Given the description of an element on the screen output the (x, y) to click on. 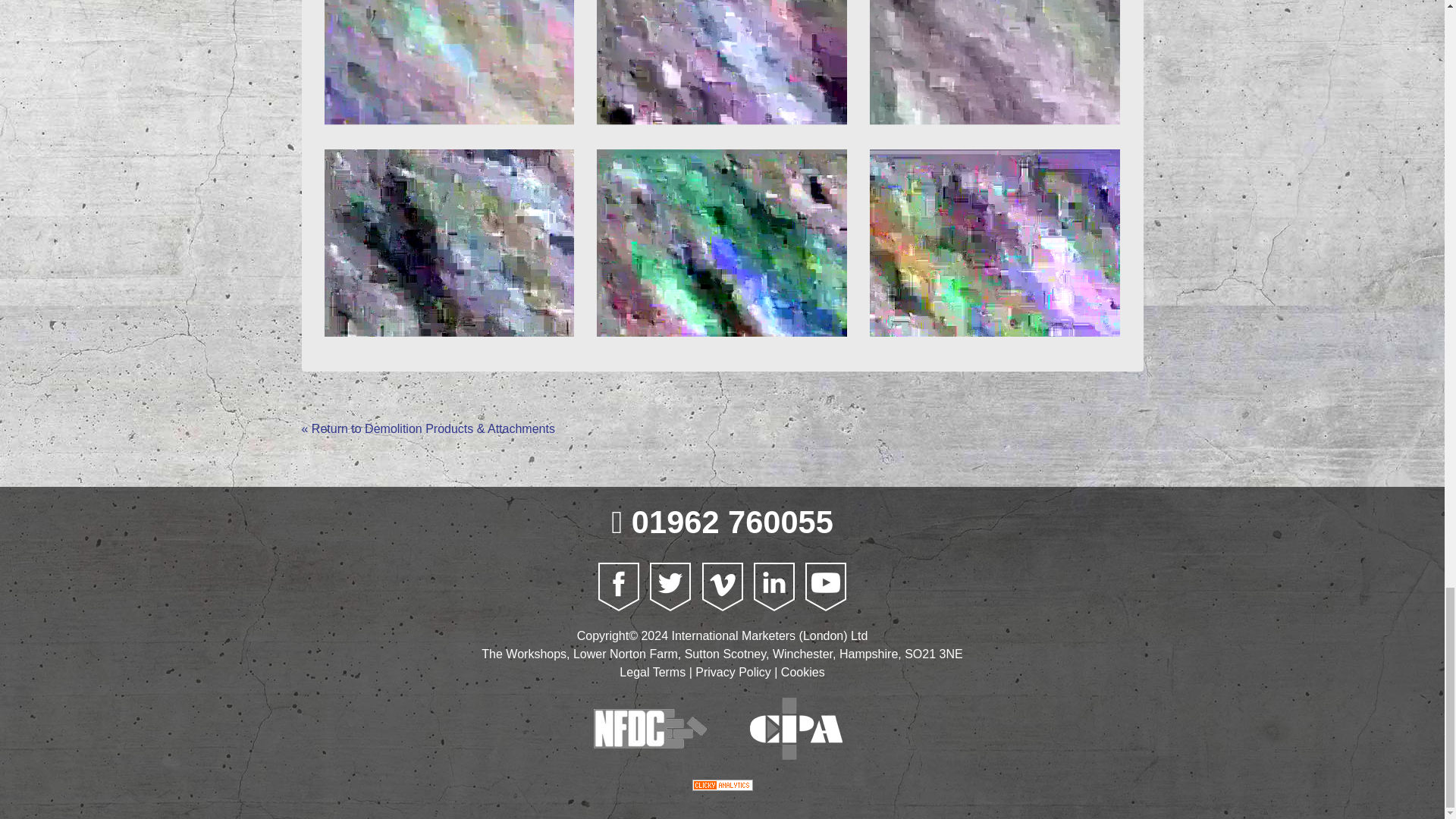
MBI SGR1500 Selector grab on Hitachi ZX210 Excavator (994, 62)
MBI SGR850 Selector Grab on Liebherr 914C Excavator (449, 242)
MBI SGR1900 Rotating Grapple on Hyundai HX380 Excavator (721, 62)
MBI SGR1900 Rotating Grapple on Komatsu PC290 Excavator (721, 242)
MBI SGR Grapple (994, 242)
SGR1500 Grapple - Demolition Clearance (449, 62)
Real Time Analytics (722, 784)
